Given the description of an element on the screen output the (x, y) to click on. 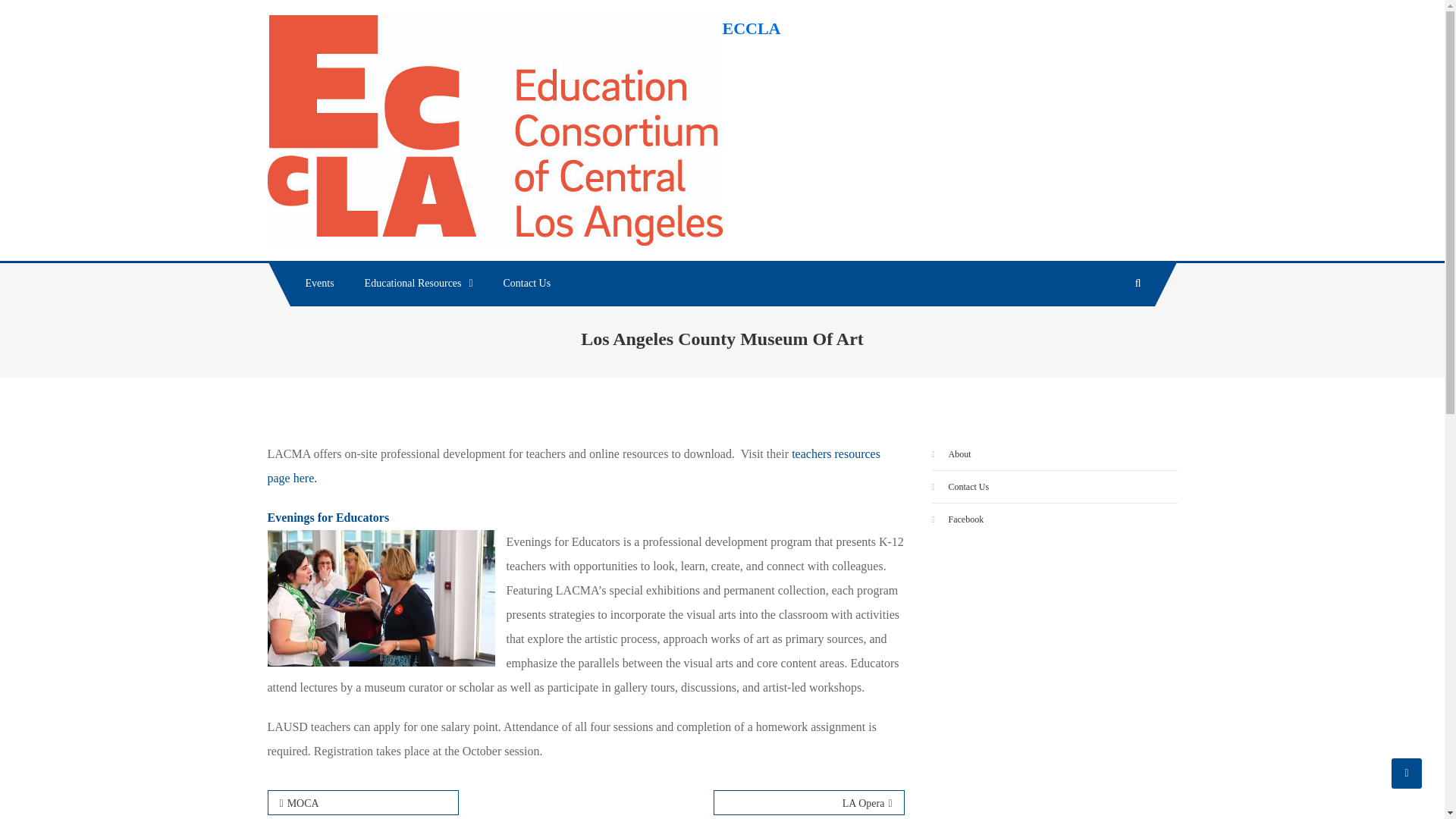
MOCA (362, 802)
Contact Us (526, 283)
teachers resources page here. (572, 465)
Contact Us (959, 486)
ECCLA (751, 27)
Events (319, 283)
LA Opera (808, 802)
Educational Resources (418, 283)
About (951, 454)
Evenings for Educators (327, 517)
Facebook (957, 518)
